Given the description of an element on the screen output the (x, y) to click on. 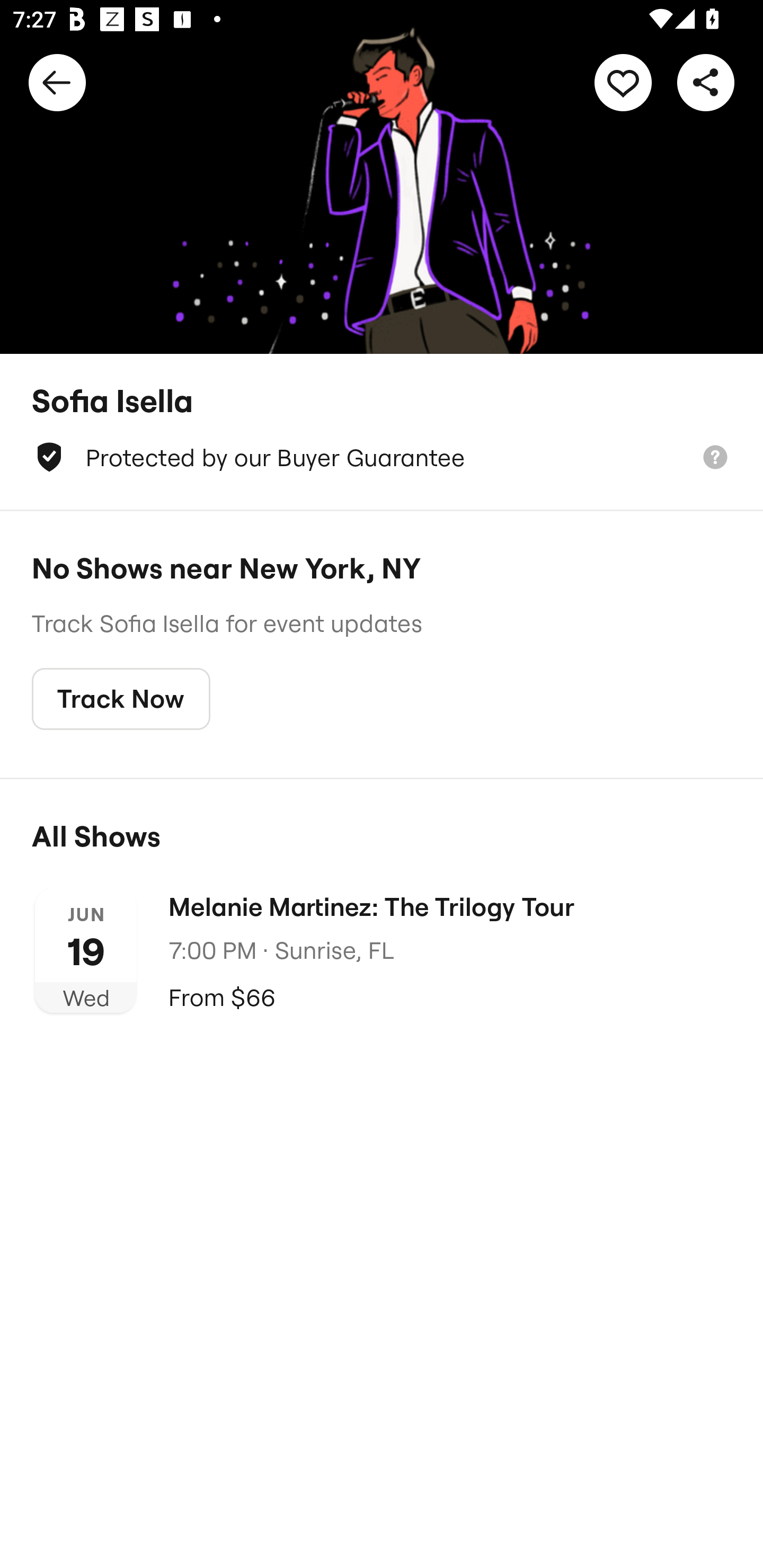
Back (57, 81)
Track this performer (623, 81)
Share this performer (705, 81)
Protected by our Buyer Guarantee Learn more (381, 456)
Track Now (121, 699)
